Given the description of an element on the screen output the (x, y) to click on. 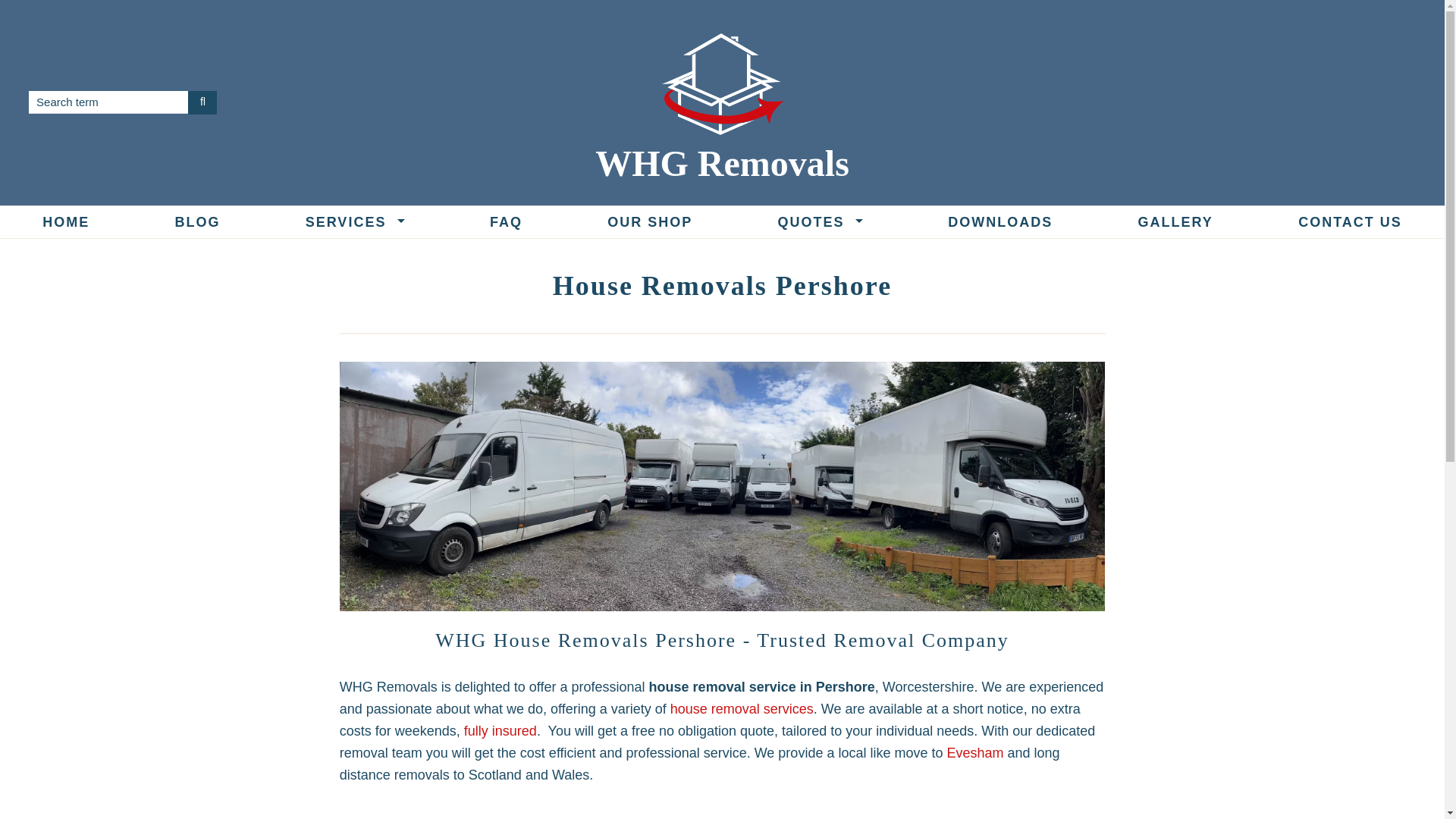
WHG Removals (721, 163)
OUR SHOP (649, 222)
GALLERY (1174, 222)
FAQ (505, 222)
HOME (66, 222)
Search (201, 102)
DOWNLOADS (999, 222)
fully insured (500, 730)
WHG Removals Ltd (722, 83)
house removal services (741, 708)
